Given the description of an element on the screen output the (x, y) to click on. 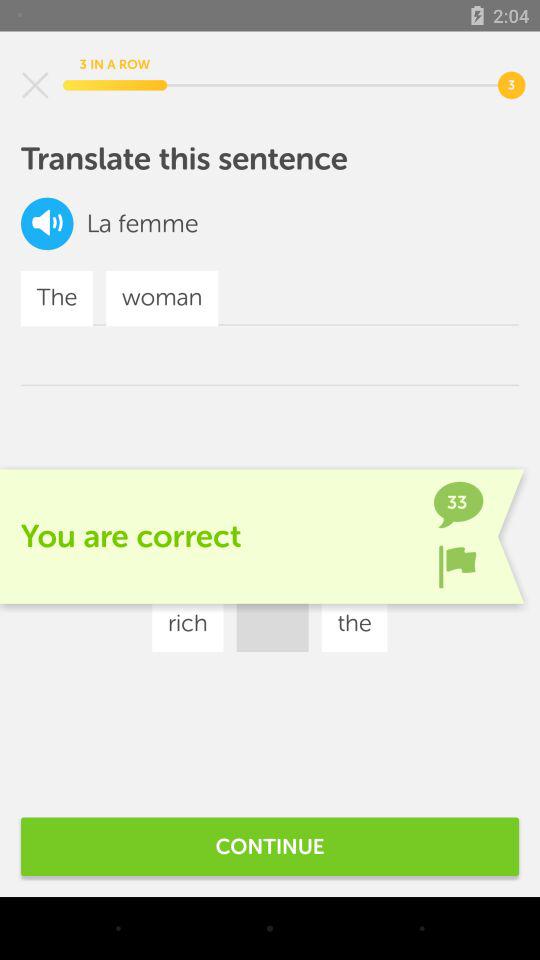
select the femme icon (158, 223)
